Given the description of an element on the screen output the (x, y) to click on. 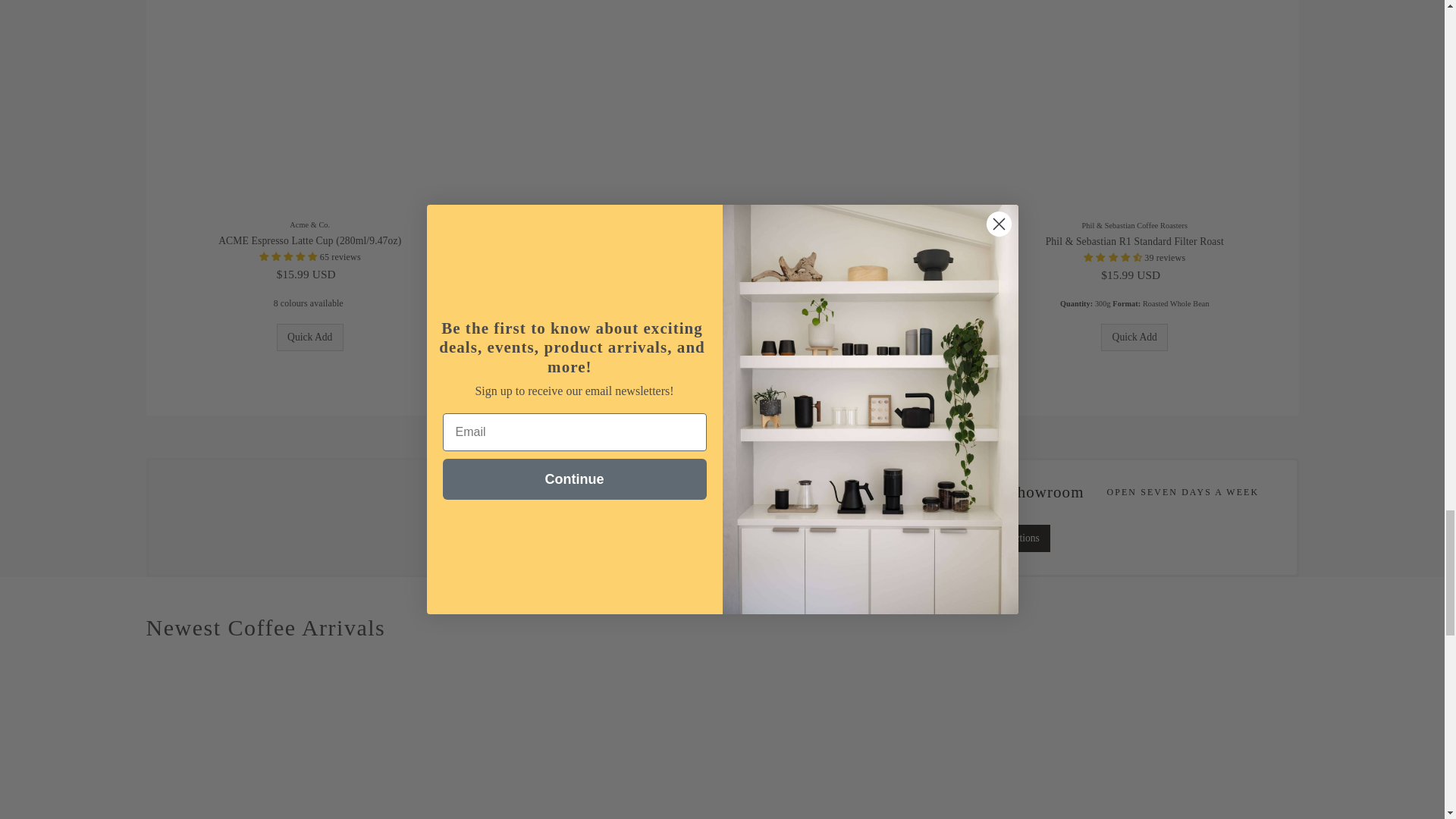
Quick Add (309, 337)
Quick Add (584, 337)
Quick Add (860, 337)
Quick Add (1133, 337)
